Given the description of an element on the screen output the (x, y) to click on. 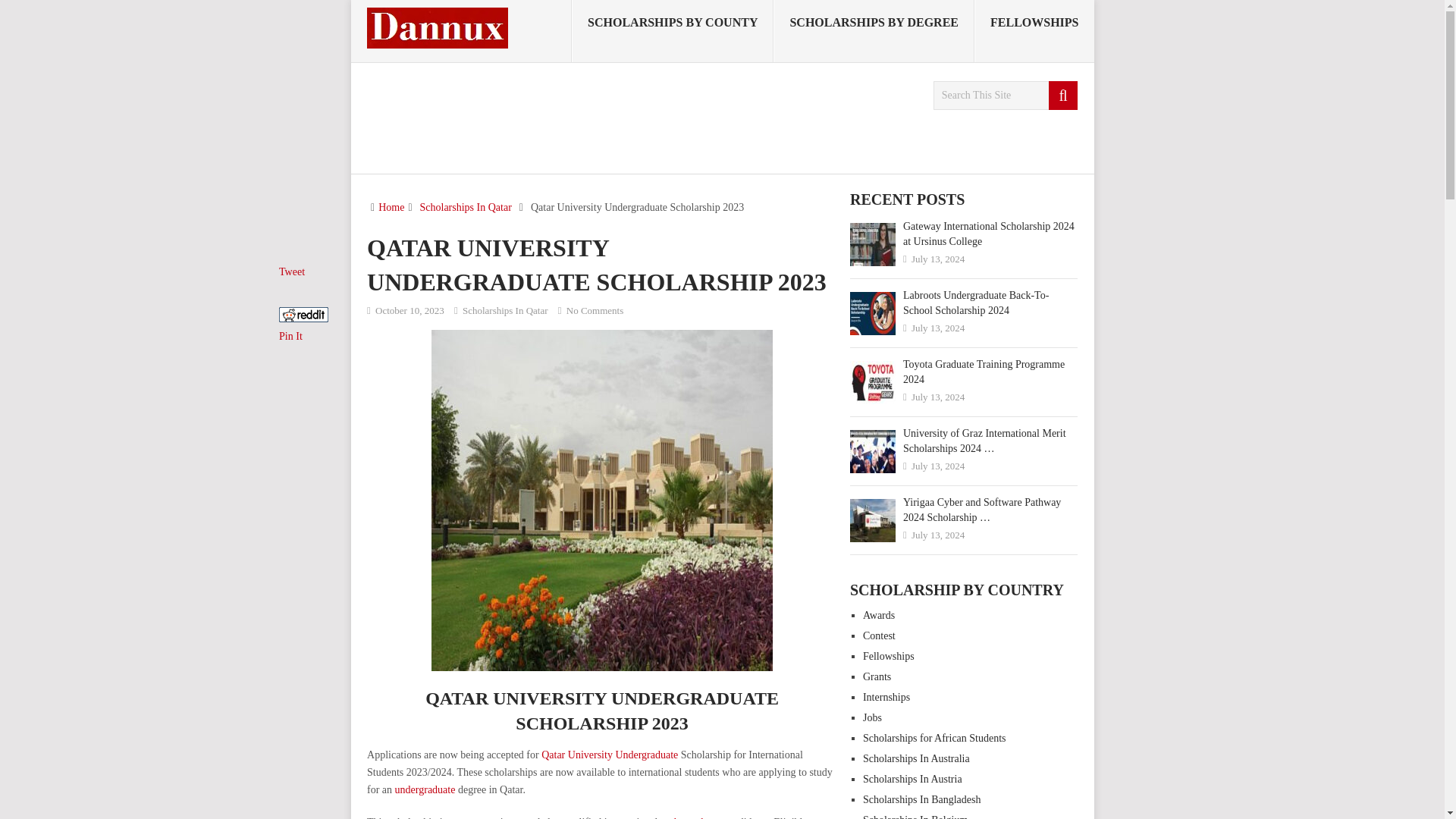
Pin It (290, 336)
Gateway International Scholarship 2024 at Ursinus College (963, 234)
Gateway International Scholarship 2024 at Ursinus College (963, 234)
undergraduate (690, 817)
Gateway International Scholarship 2024 at Ursinus College (872, 244)
Scholarships In Qatar (466, 206)
SCHOLARSHIPS BY DEGREE (873, 31)
SCHOLARSHIPS BY COUNTY (672, 31)
Tweet (291, 271)
Toyota Graduate Training Programme 2024 (872, 382)
Qatar University Undergraduate Scholarship 2023 (601, 500)
Qatar University (576, 754)
undergraduate (424, 789)
View all posts in Scholarships In Qatar (505, 310)
